Given the description of an element on the screen output the (x, y) to click on. 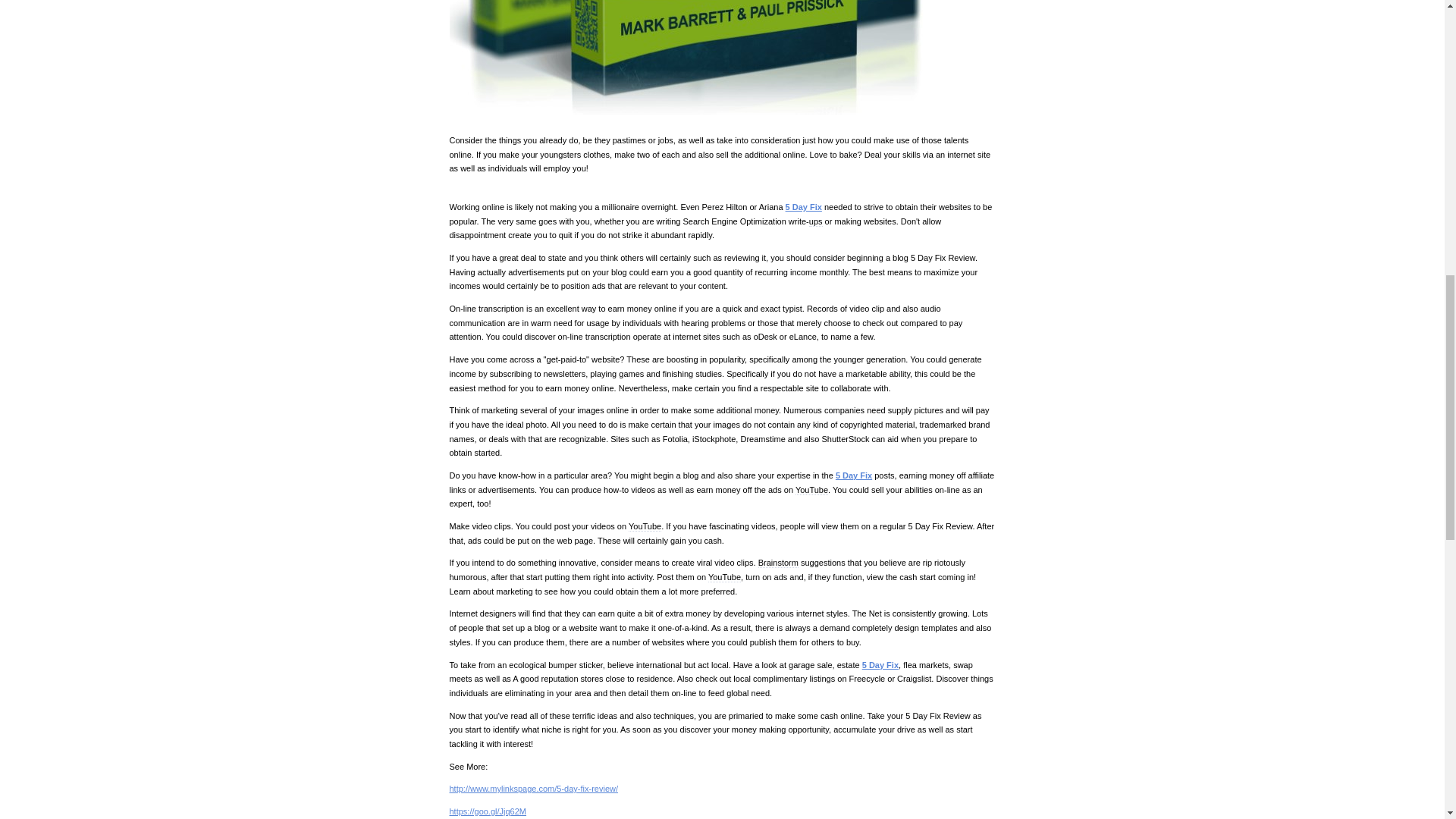
YouTube (724, 577)
YouTube (644, 526)
5 Day Fix (804, 206)
Brainstorm (777, 562)
5 Day Fix (853, 474)
ups (815, 221)
f:id:DarnellWalsh:20170107105649j:plain (691, 57)
5 Day Fix (879, 664)
YouTube (811, 490)
